Given the description of an element on the screen output the (x, y) to click on. 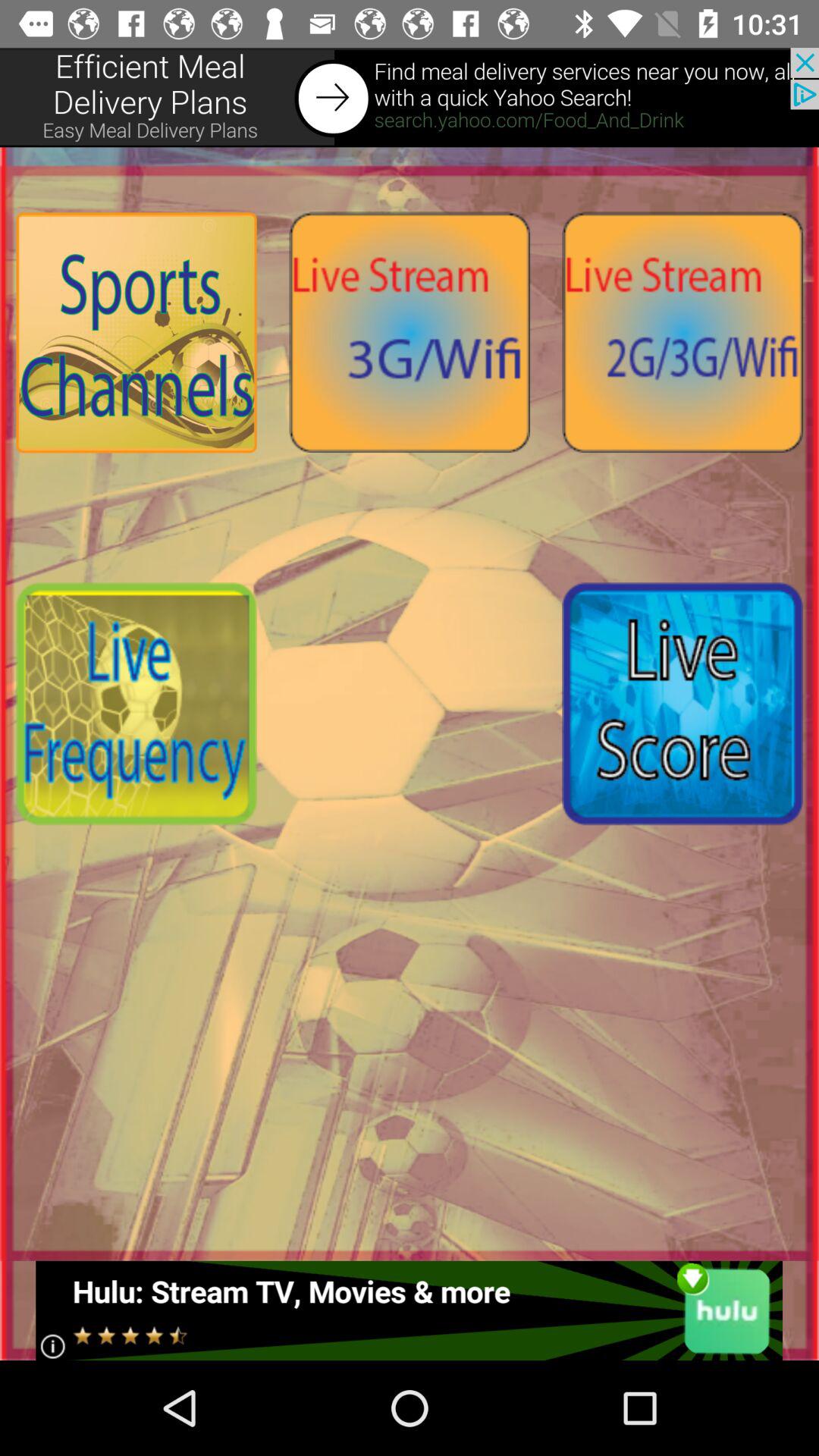
start the livestream (682, 332)
